Given the description of an element on the screen output the (x, y) to click on. 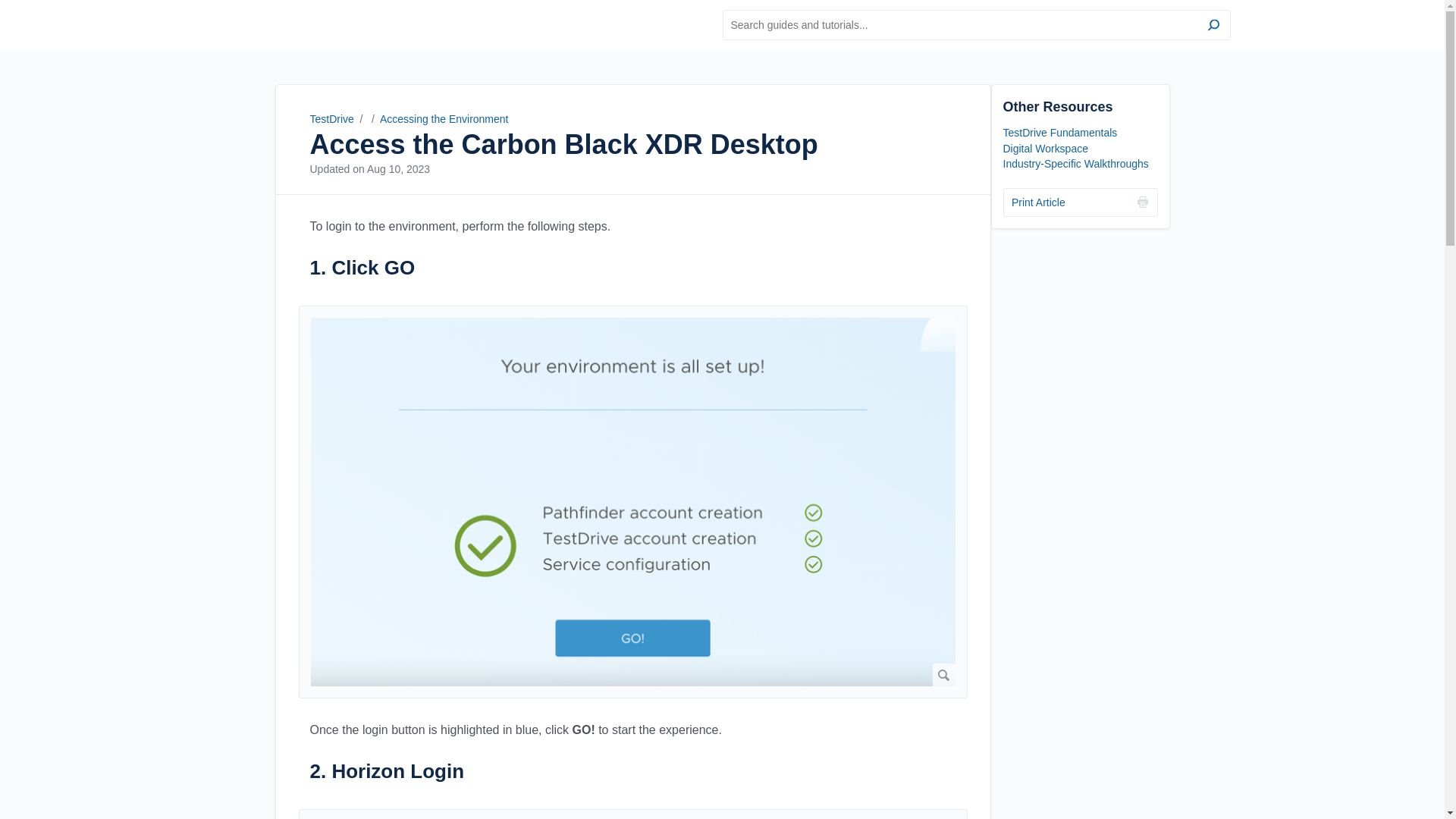
August 10, 2023 at 7:21pm CST (397, 168)
TestDrive (285, 24)
Industry-Specific Walkthroughs (1075, 163)
TestDrive (330, 119)
TestDrive Fundamentals (1059, 132)
TestDrive (285, 24)
Accessing the Environment (444, 119)
Print Article (1080, 202)
Digital Workspace (1045, 148)
